Given the description of an element on the screen output the (x, y) to click on. 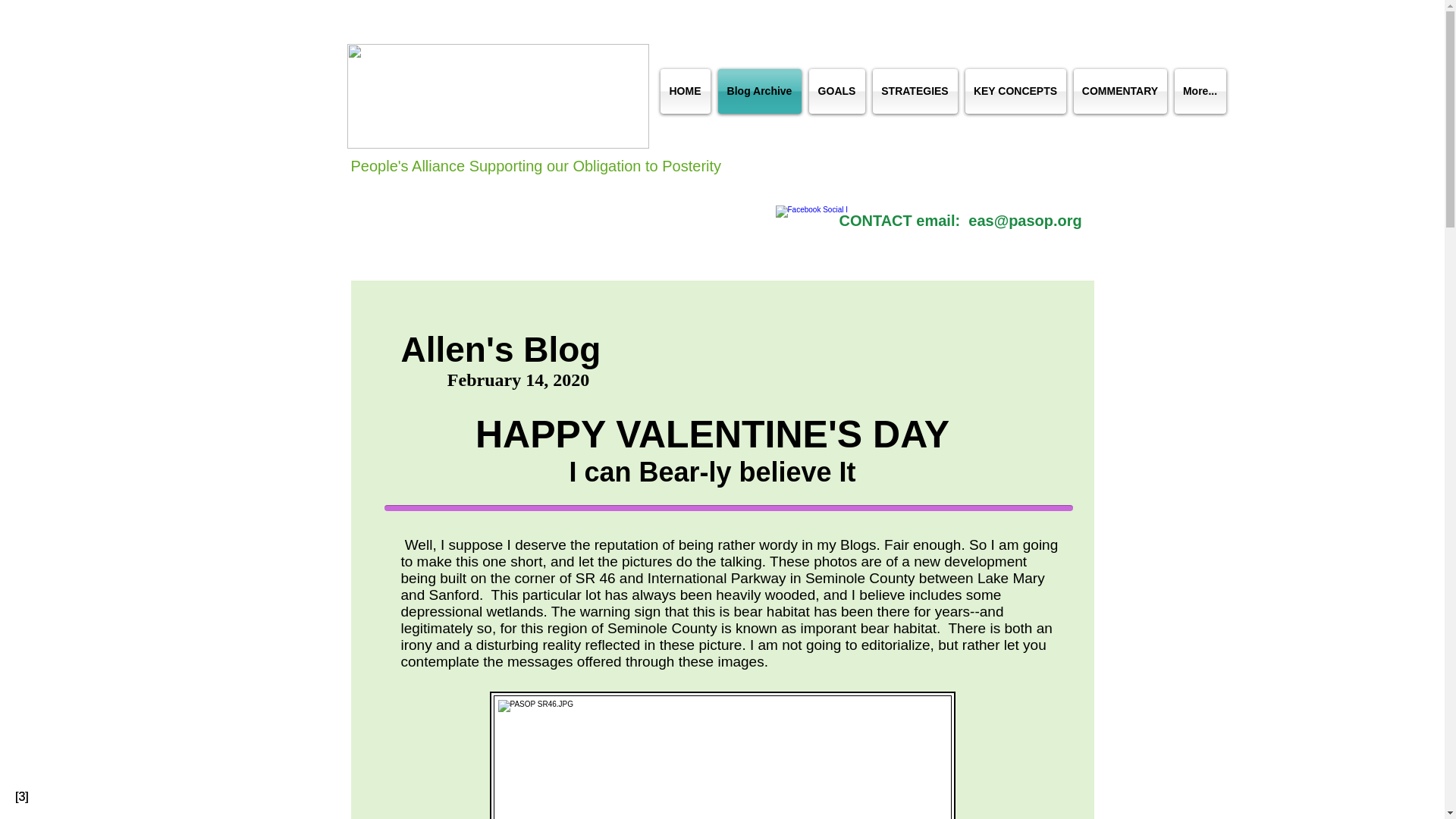
STRATEGIES (914, 90)
Blog Archive (759, 90)
GOALS (837, 90)
HOME (686, 90)
KEY CONCEPTS (1015, 90)
